Given the description of an element on the screen output the (x, y) to click on. 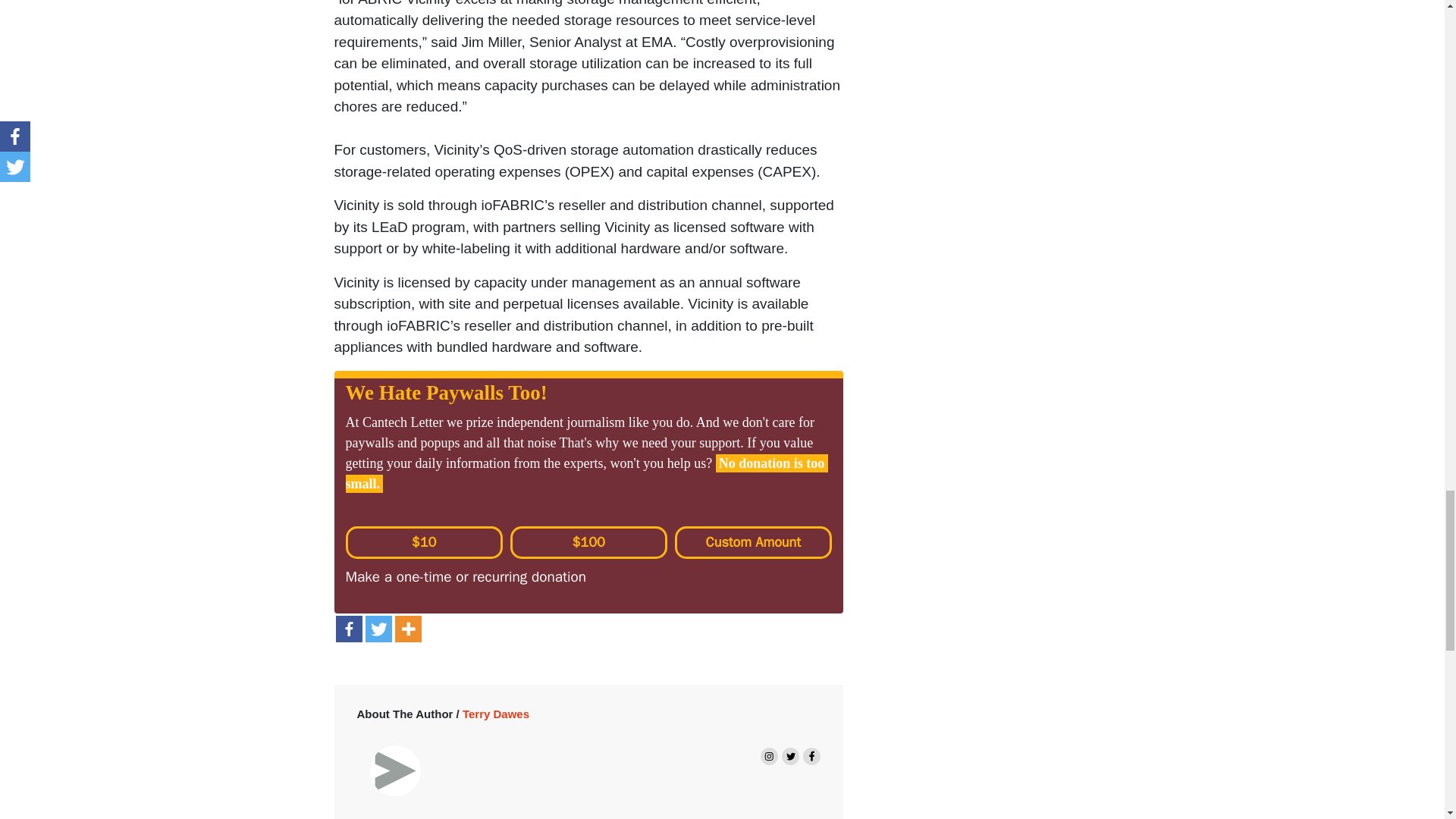
Facebook (347, 628)
More (407, 628)
Twitter (378, 628)
